Given the description of an element on the screen output the (x, y) to click on. 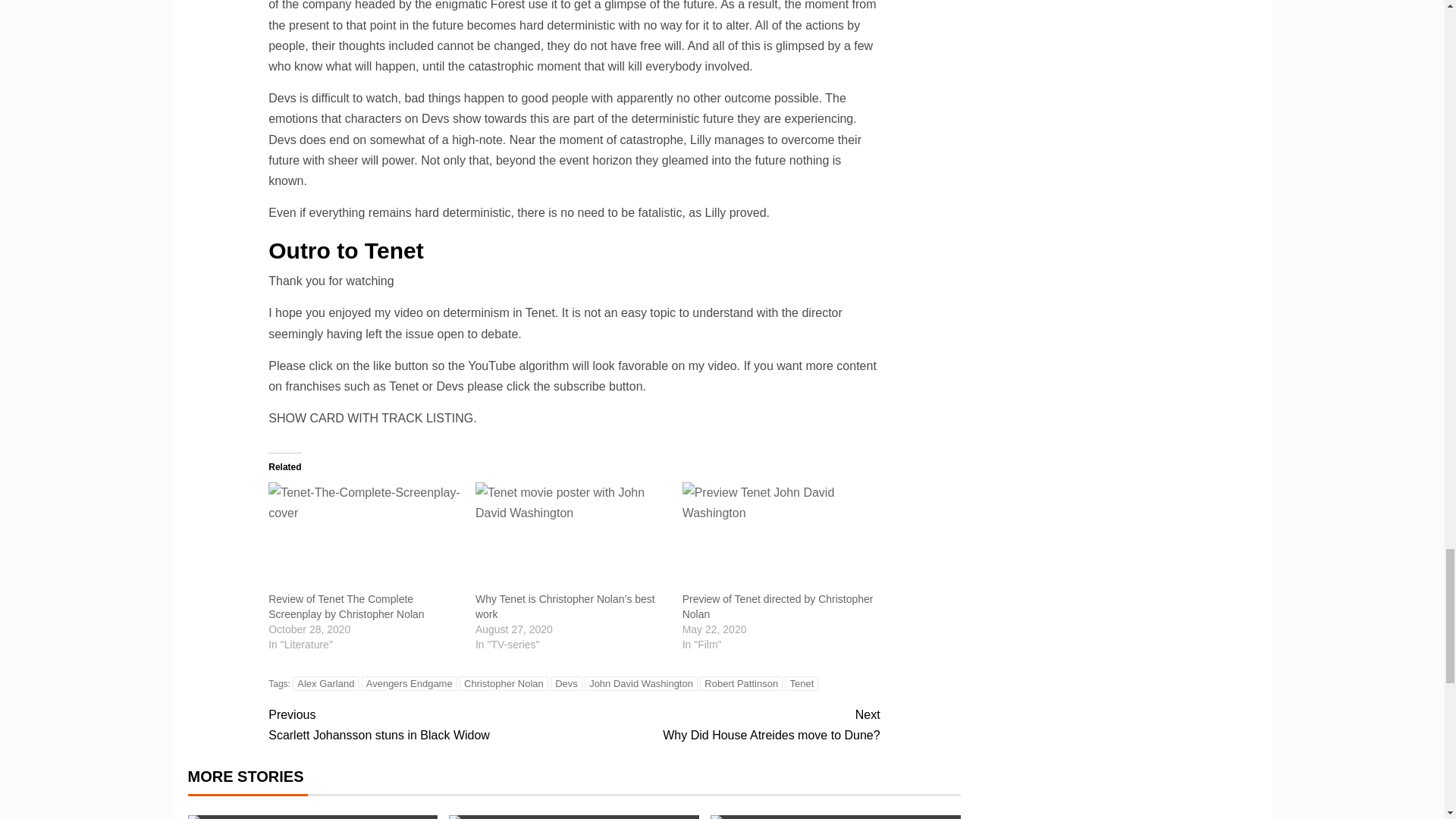
Review of Tenet The Complete Screenplay by Christopher Nolan (363, 536)
Review of Tenet The Complete Screenplay by Christopher Nolan (345, 605)
Preview of Tenet directed by Christopher Nolan (777, 605)
Preview of Tenet directed by Christopher Nolan (778, 536)
